Given the description of an element on the screen output the (x, y) to click on. 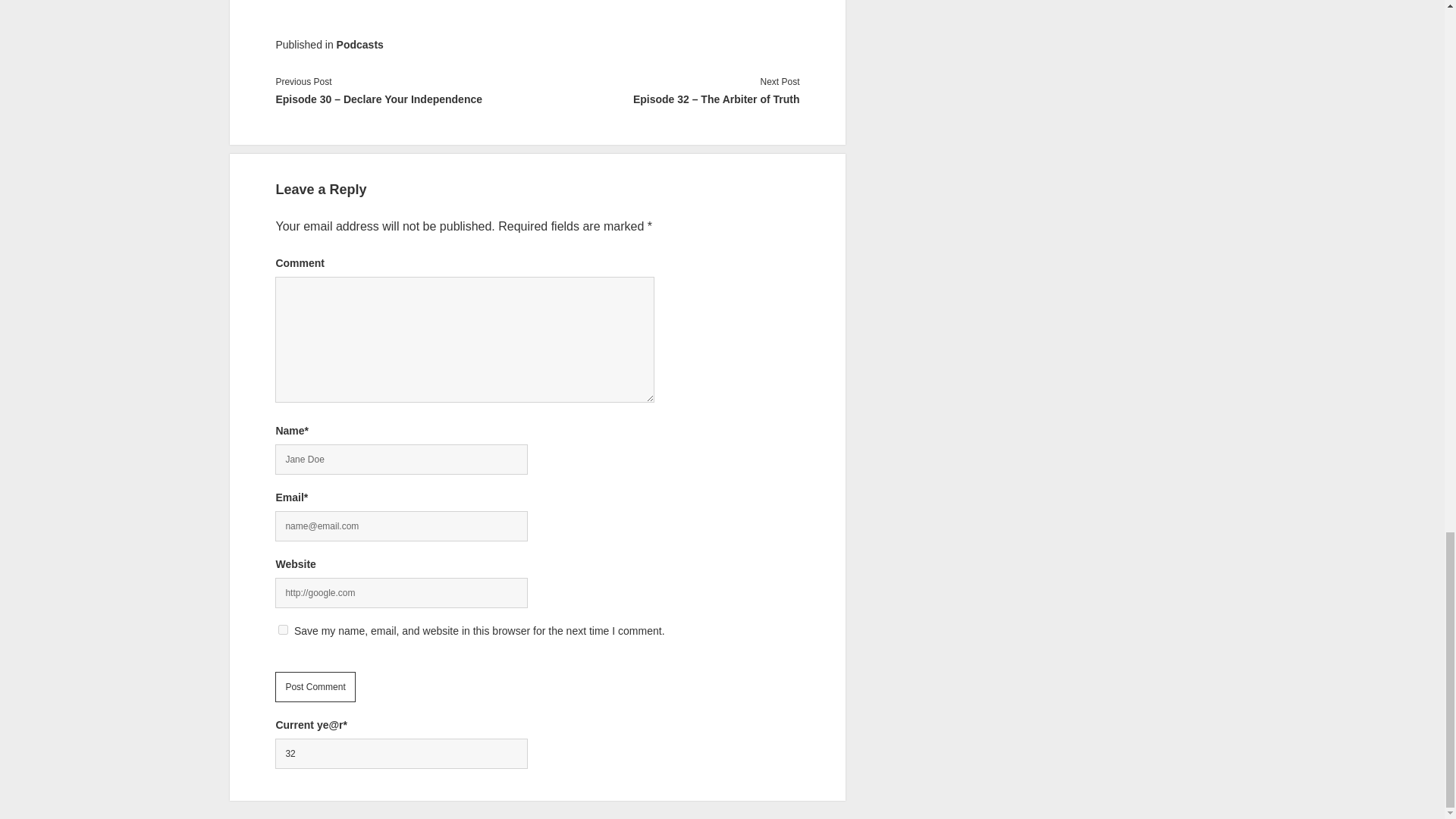
Post Comment (315, 686)
yes (283, 629)
Podcasts (360, 44)
Post Comment (315, 686)
View all posts in Podcasts (360, 44)
32 (401, 753)
